Given the description of an element on the screen output the (x, y) to click on. 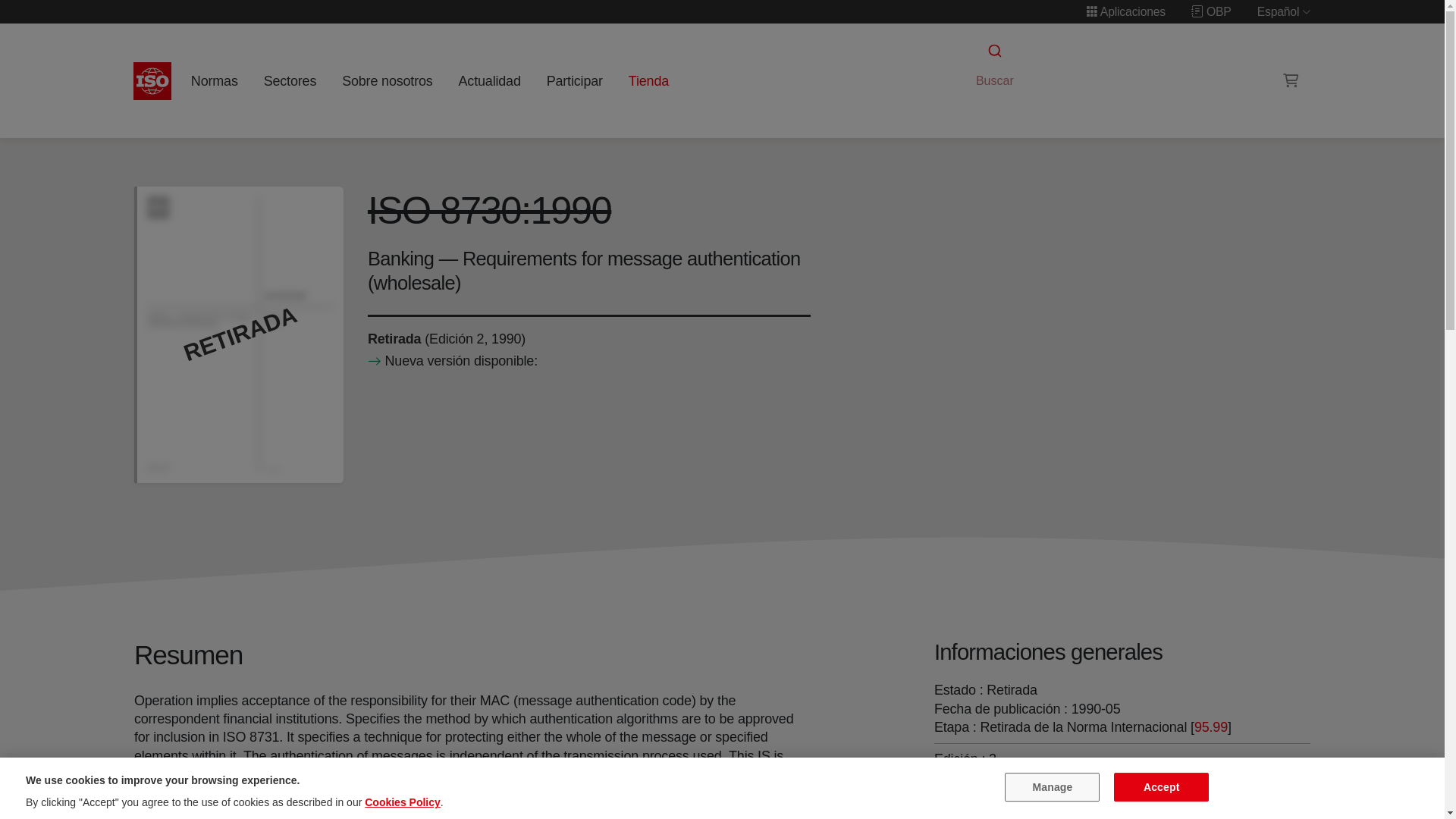
95.99 (1210, 726)
Actualidad (489, 80)
Sobre nosotros (387, 80)
95.99 (1210, 726)
Portal de aplicaciones de ISO (1126, 11)
 OBP (1211, 11)
Ciclo de vida (393, 338)
Normas (214, 80)
Sectores (290, 80)
Tienda (648, 80)
Financial Services, security (1086, 809)
